Given the description of an element on the screen output the (x, y) to click on. 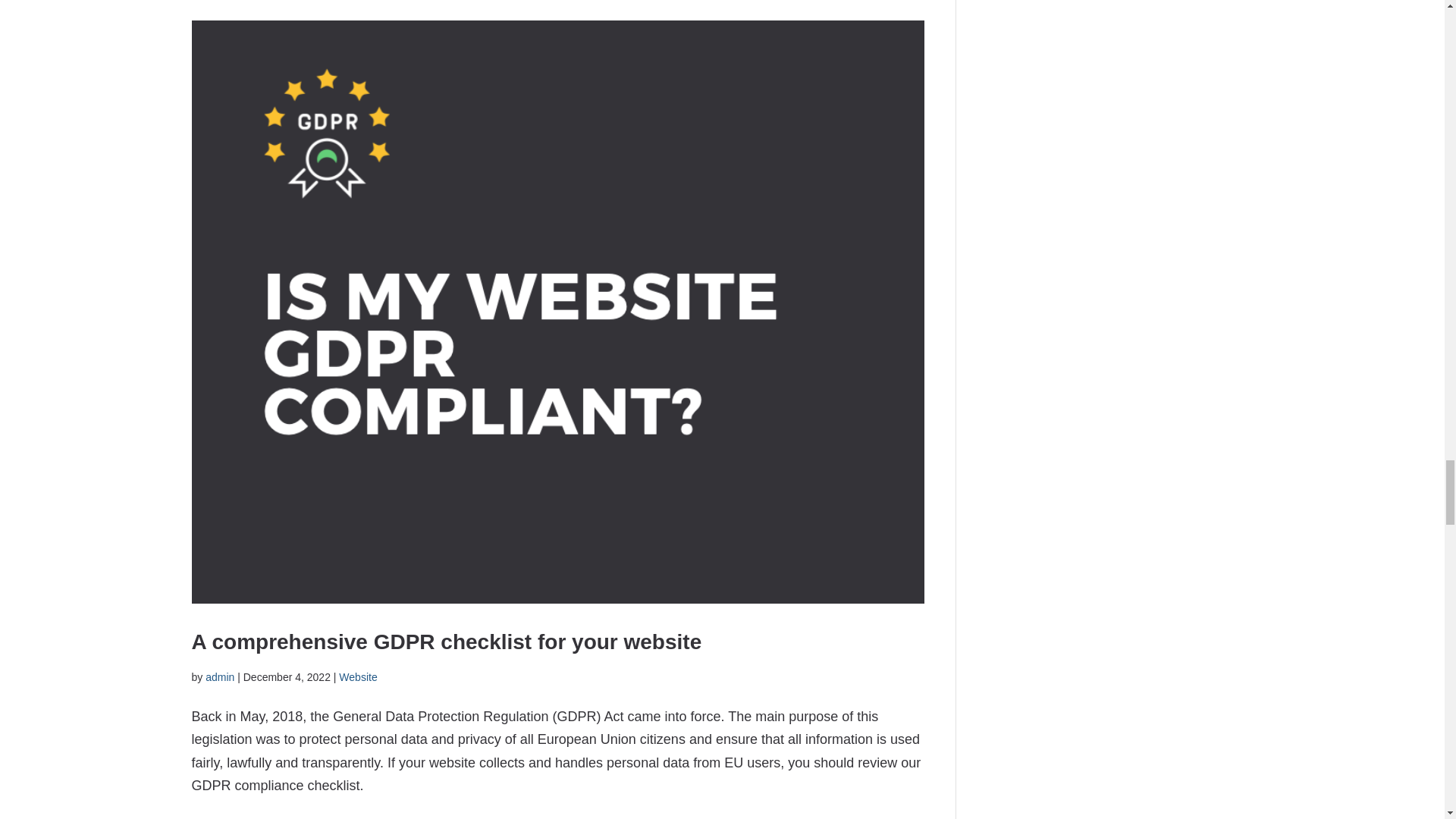
Posts by admin (219, 676)
A comprehensive GDPR checklist for your website (445, 641)
Website (358, 676)
admin (219, 676)
